Given the description of an element on the screen output the (x, y) to click on. 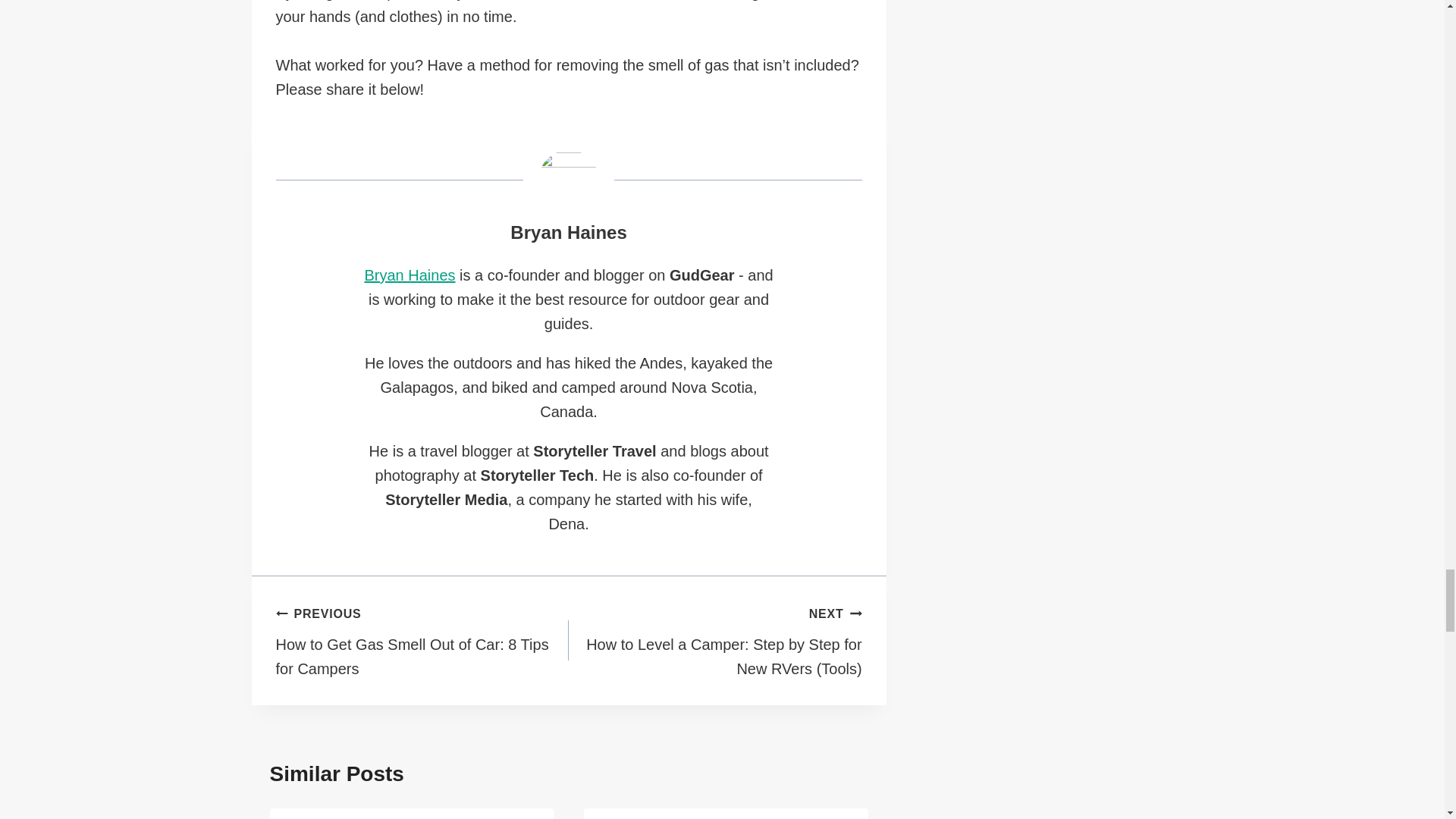
Bryan Haines (409, 274)
Bryan Haines (422, 640)
Posts by Bryan Haines (568, 231)
